Given the description of an element on the screen output the (x, y) to click on. 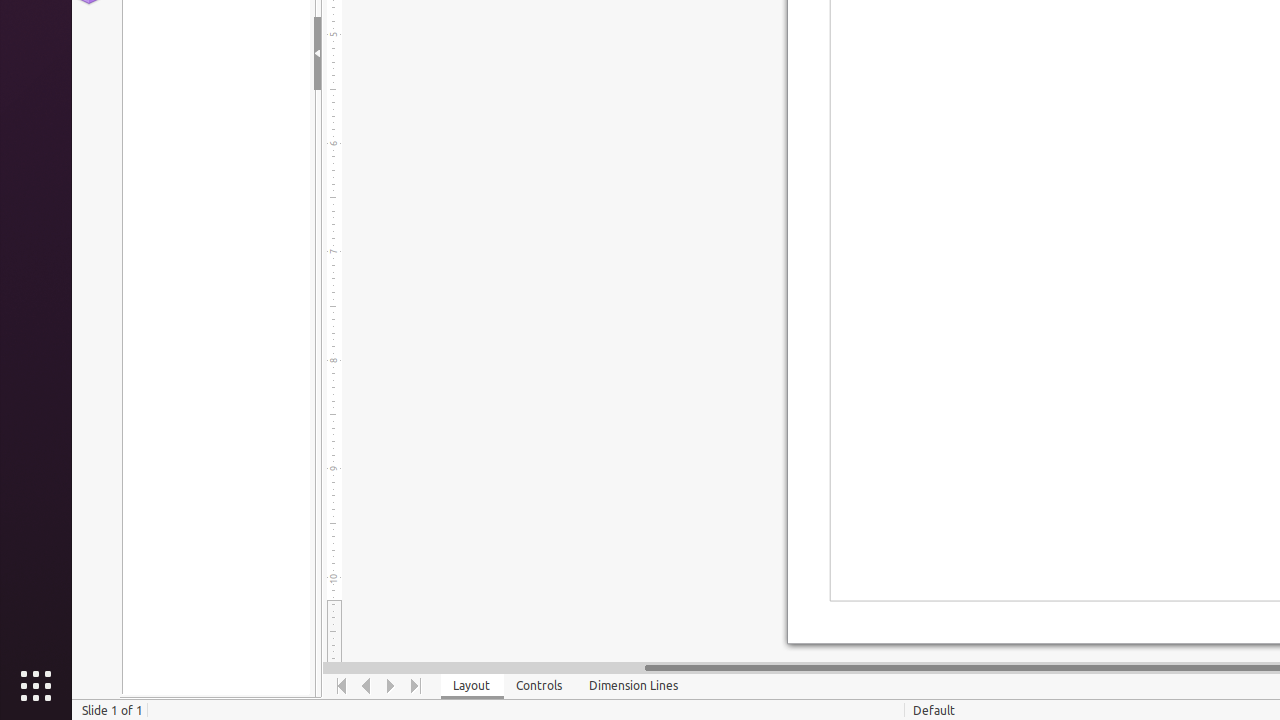
Move To End Element type: push-button (416, 686)
Move Left Element type: push-button (366, 686)
Dimension Lines Element type: page-tab (634, 686)
Layout Element type: page-tab (472, 686)
Move To Home Element type: push-button (341, 686)
